Given the description of an element on the screen output the (x, y) to click on. 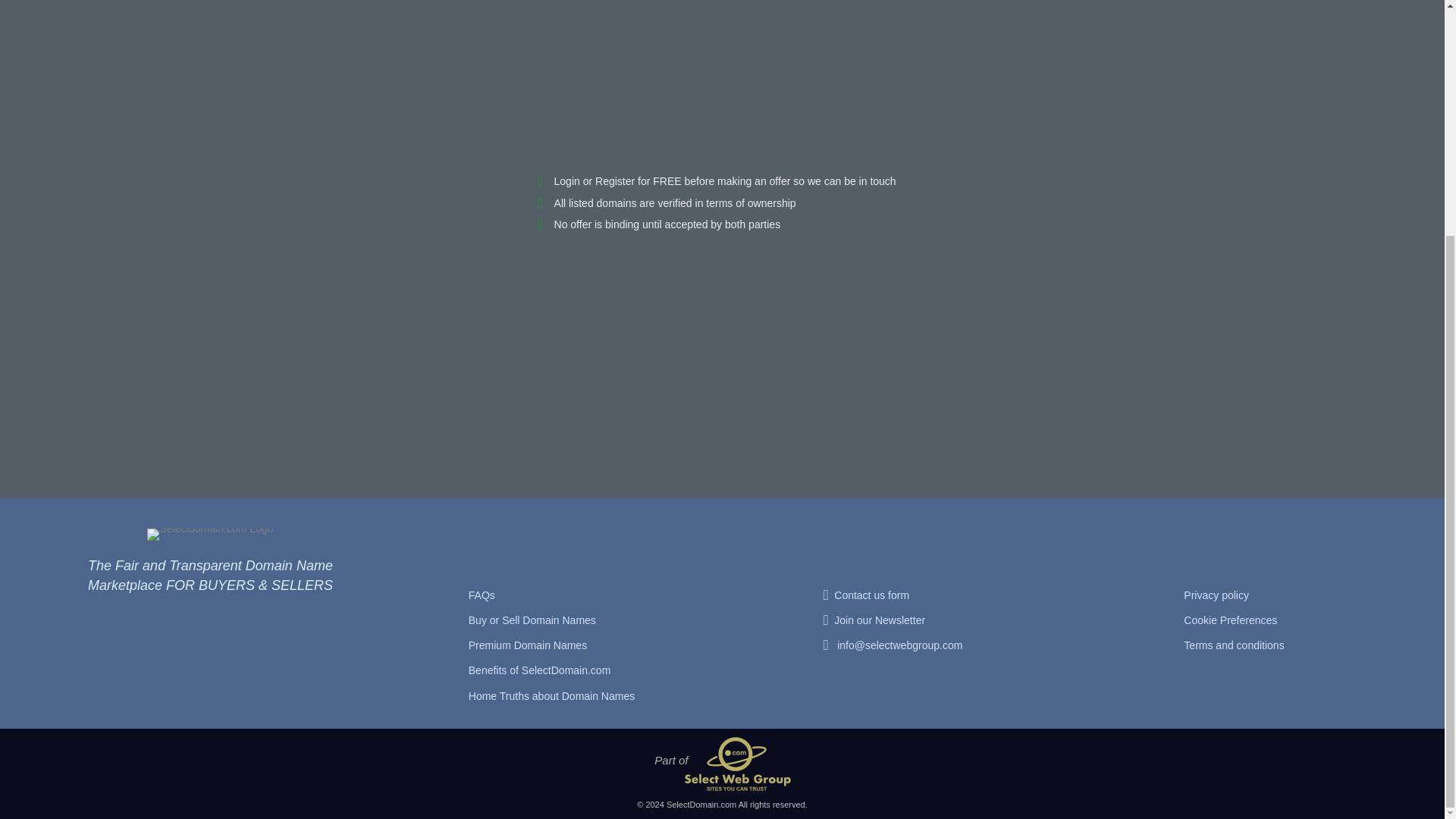
FAQs (481, 596)
Join our Newsletter (879, 620)
Premium Domain Names (527, 646)
SelectDomain.com Logo (210, 534)
Benefits of SelectDomain.com (539, 671)
Contact us form (871, 596)
Buy or Sell Domain Names (531, 620)
Terms and conditions (1233, 646)
SelectWebGroup (737, 764)
Privacy policy (1216, 596)
